Given the description of an element on the screen output the (x, y) to click on. 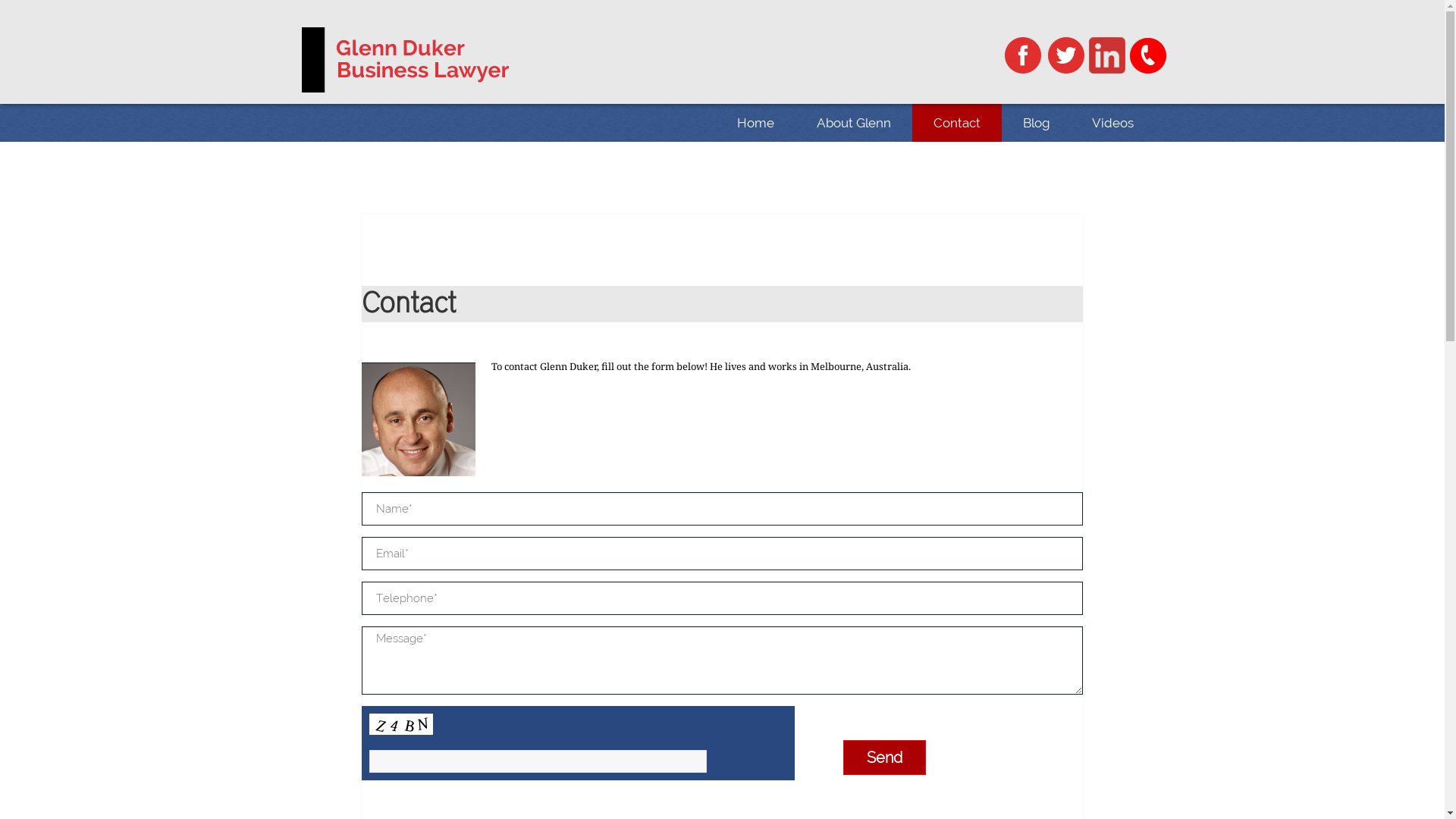
Glenn Duker Element type: hover (405, 59)
About Glenn Element type: text (852, 122)
Contact Element type: text (956, 122)
Videos Element type: text (1112, 122)
Send Element type: text (884, 757)
Home Element type: text (755, 122)
Blog Element type: text (1035, 122)
